Given the description of an element on the screen output the (x, y) to click on. 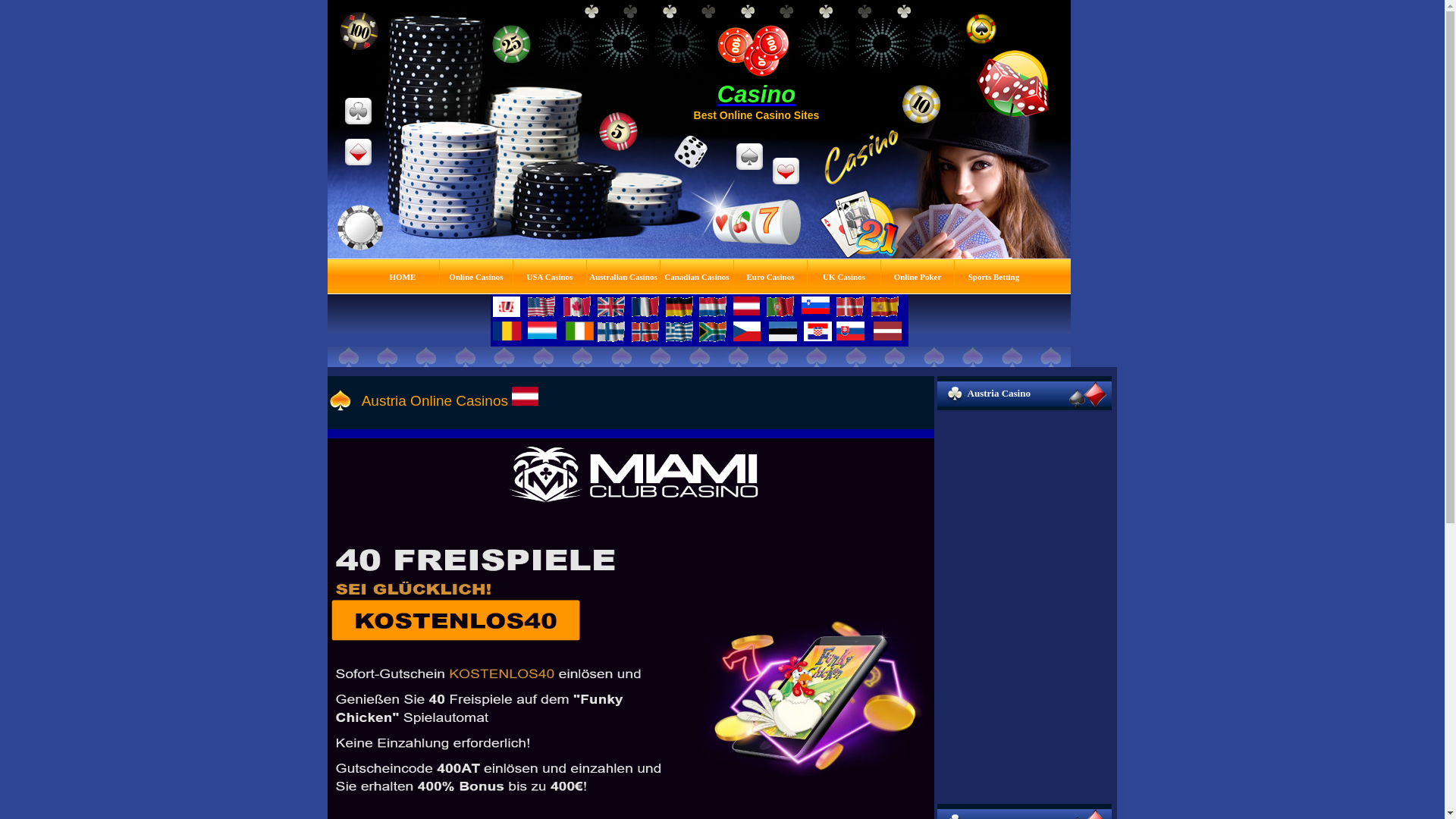
Online Casinos Element type: text (475, 275)
Sports Betting Element type: text (993, 275)
croatia flag Element type: hover (817, 331)
Romania Online
                                Casinos Element type: hover (506, 330)
Ireland Online Casinos Element type: hover (579, 330)
latvia flag Element type: hover (887, 330)
Estonia
                                Flag Element type: hover (782, 331)
USA Casinos Element type: text (550, 275)
Casino Element type: text (756, 94)
Euro Casinos Element type: text (769, 275)
HOME Element type: text (402, 275)
Czech Online Casinos Element type: hover (746, 331)
slovenia
                                flag Element type: hover (815, 304)
Online Poker Element type: text (917, 275)
UK Casinos Element type: text (843, 275)
Australian Casinos Element type: text (623, 275)
slovakia
                                flag Element type: hover (850, 330)
Canadian Casinos Element type: text (696, 275)
